Given the description of an element on the screen output the (x, y) to click on. 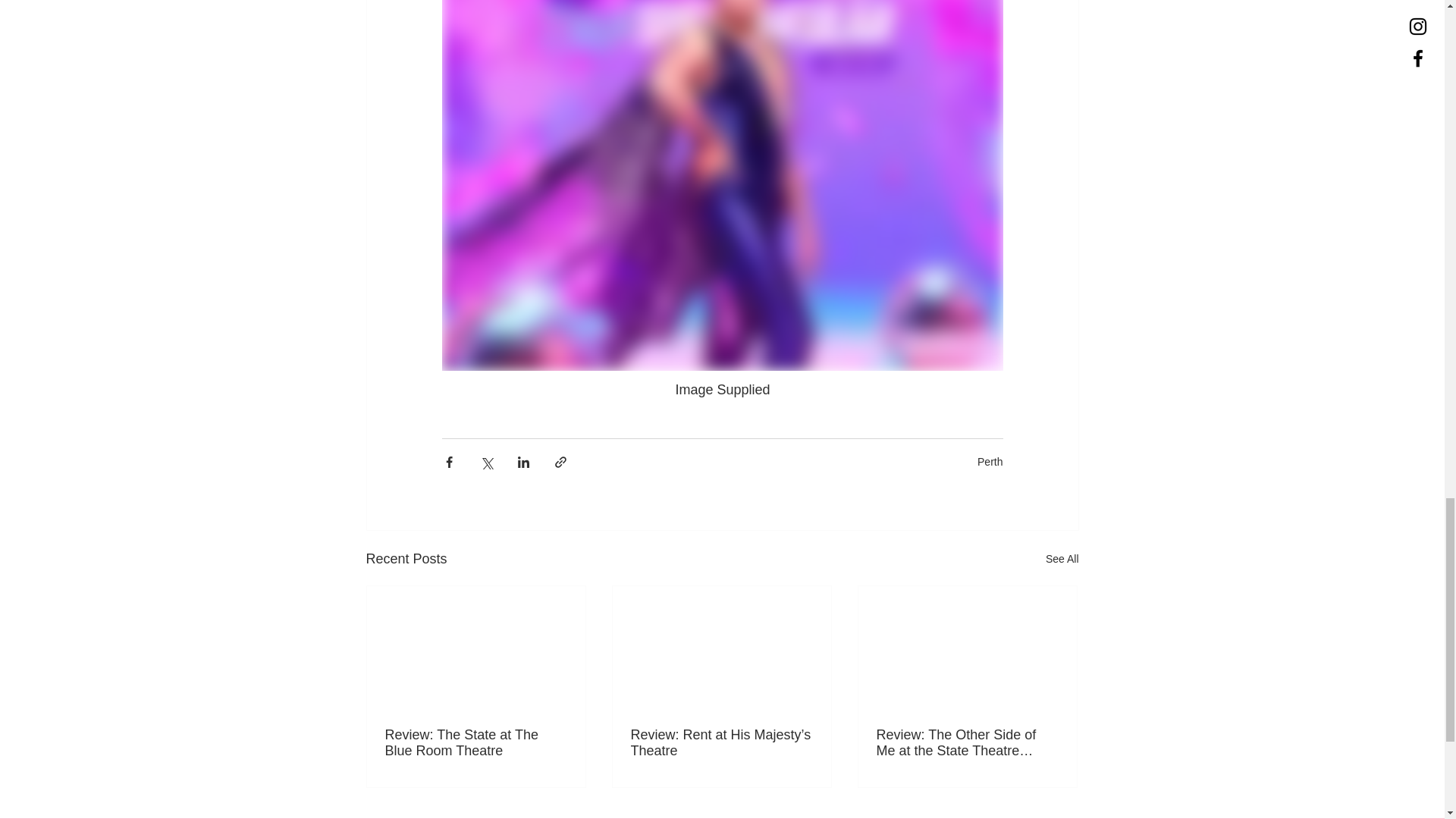
See All (1061, 558)
Review: The State at The Blue Room Theatre (476, 743)
Review: The Other Side of Me at the State Theatre Centre (967, 743)
Perth (989, 460)
